Given the description of an element on the screen output the (x, y) to click on. 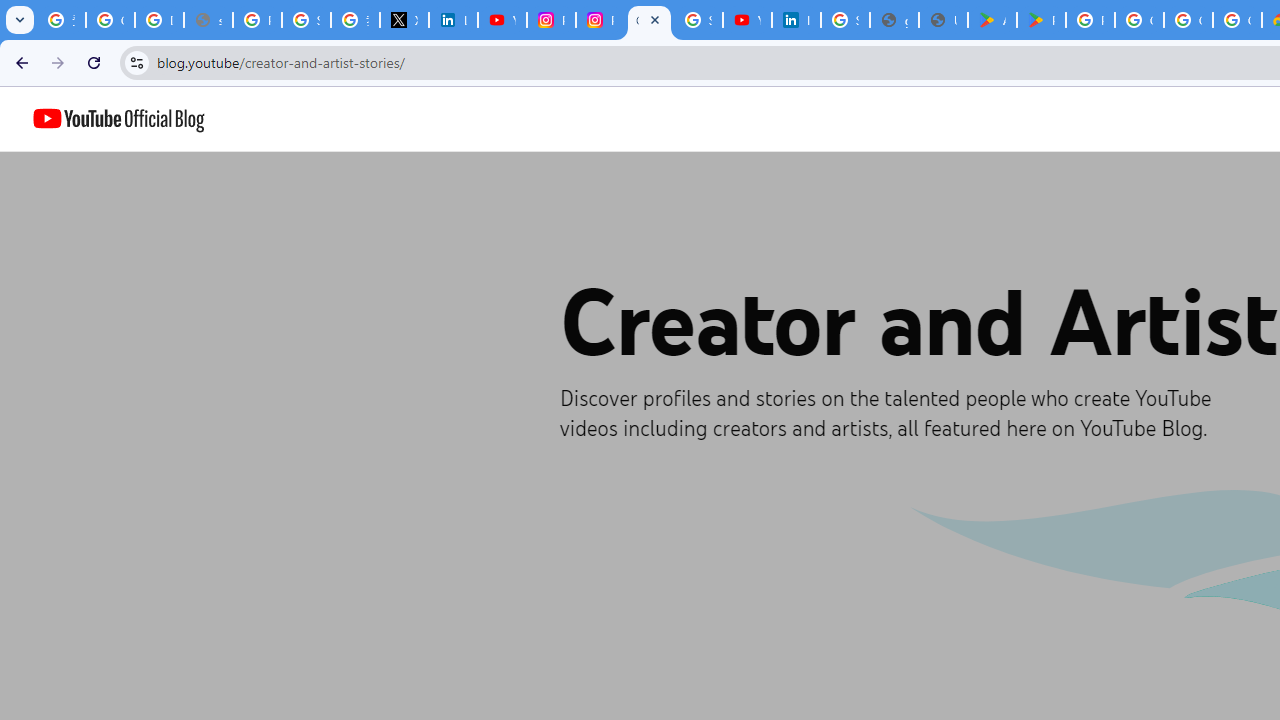
X (404, 20)
support.google.com - Network error (208, 20)
Google Workspace - Specific Terms (1188, 20)
